Given the description of an element on the screen output the (x, y) to click on. 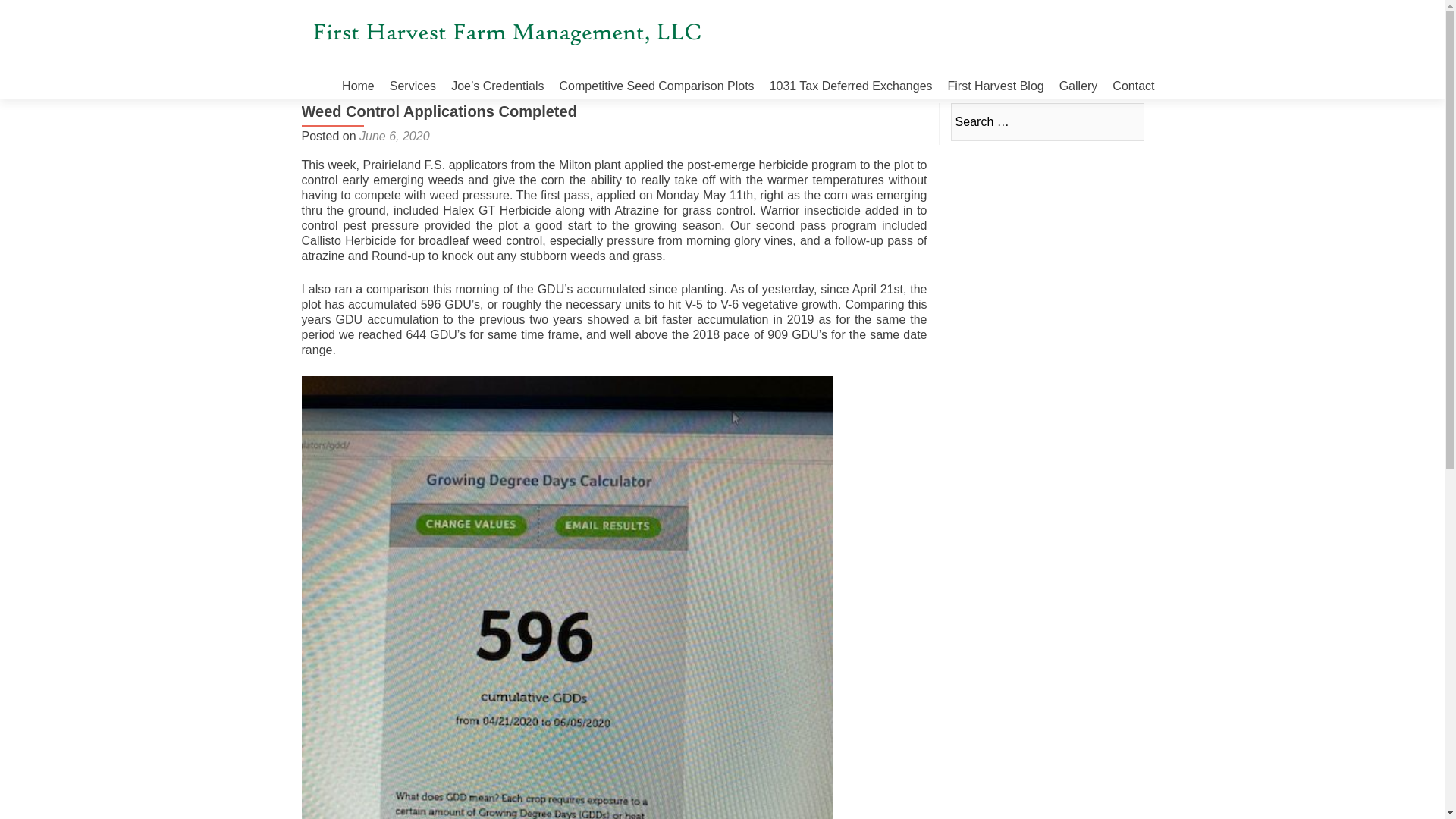
Search (1125, 120)
Home (358, 85)
June 6, 2020 (394, 135)
Gallery (1078, 85)
1031 Tax Deferred Exchanges (851, 85)
Search (1125, 120)
Services (412, 85)
Contact (1133, 85)
First Harvest Blog (995, 85)
Search (1125, 120)
